Given the description of an element on the screen output the (x, y) to click on. 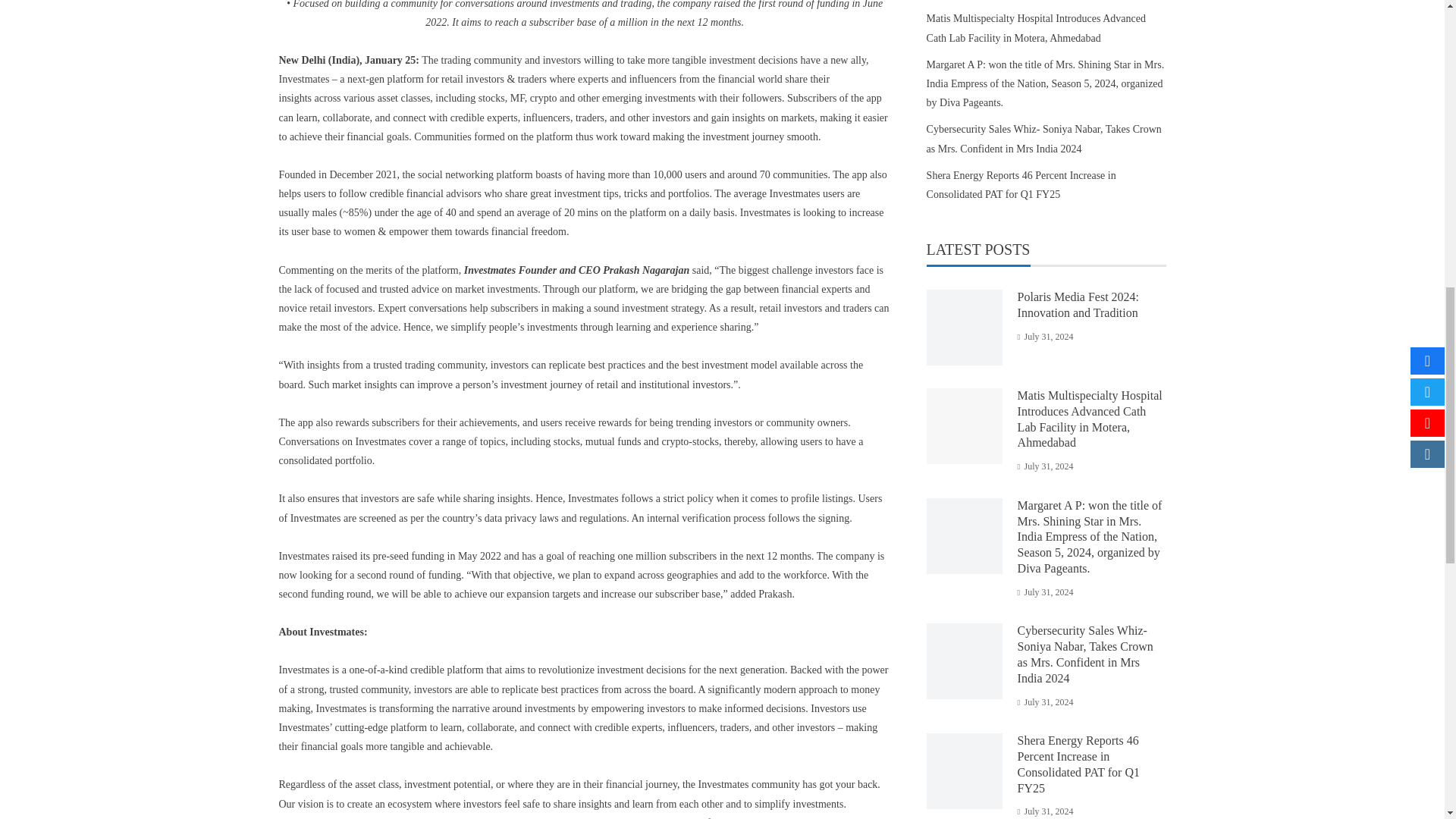
Polaris Media Fest 2024: Innovation and Tradition (1077, 304)
